Given the description of an element on the screen output the (x, y) to click on. 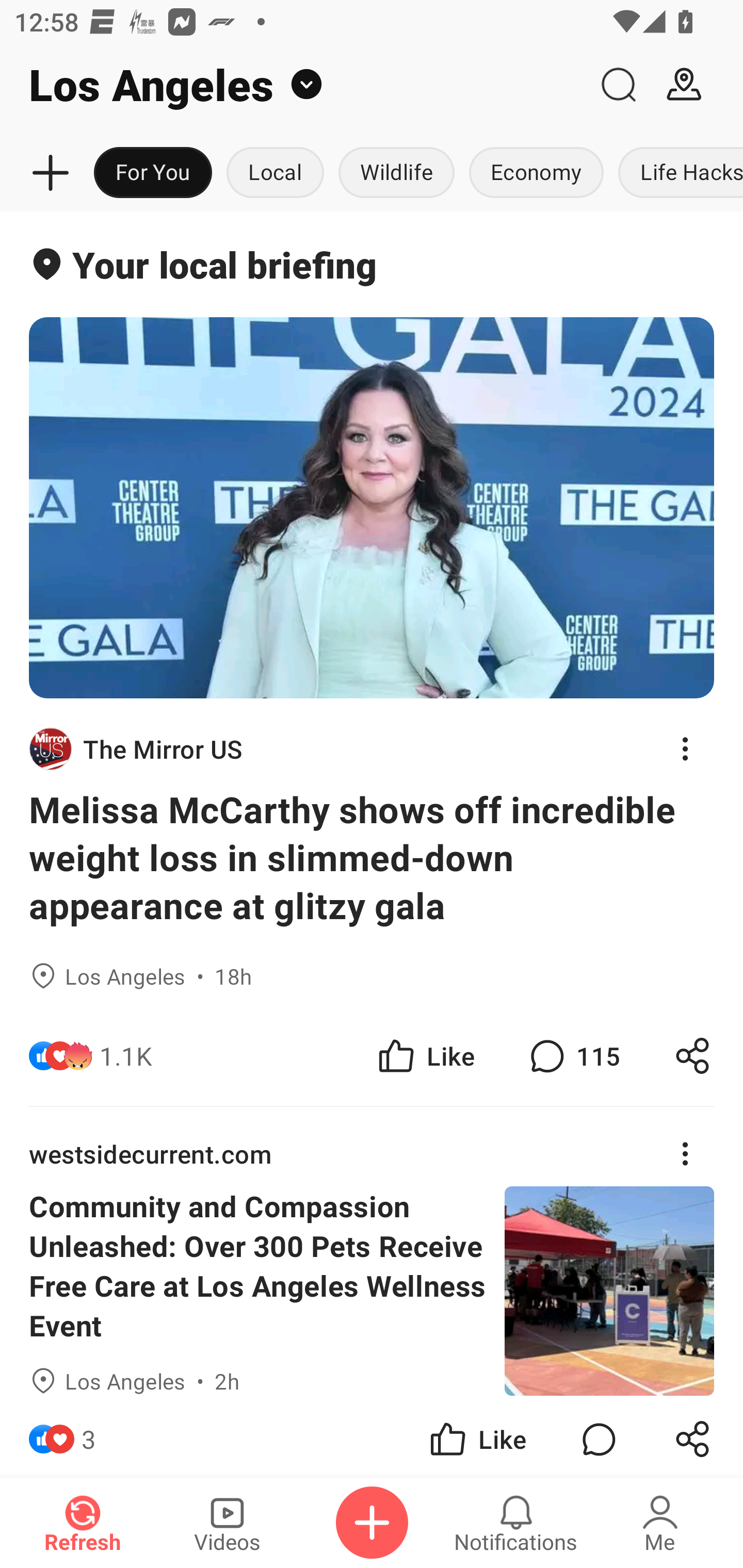
Los Angeles (292, 84)
For You (152, 172)
Local (275, 172)
Wildlife (396, 172)
Economy (536, 172)
Life Hacks (676, 172)
1.1K (125, 1055)
Like (425, 1055)
115 (572, 1055)
3 (88, 1436)
Like (476, 1436)
Videos (227, 1522)
Notifications (516, 1522)
Me (659, 1522)
